Given the description of an element on the screen output the (x, y) to click on. 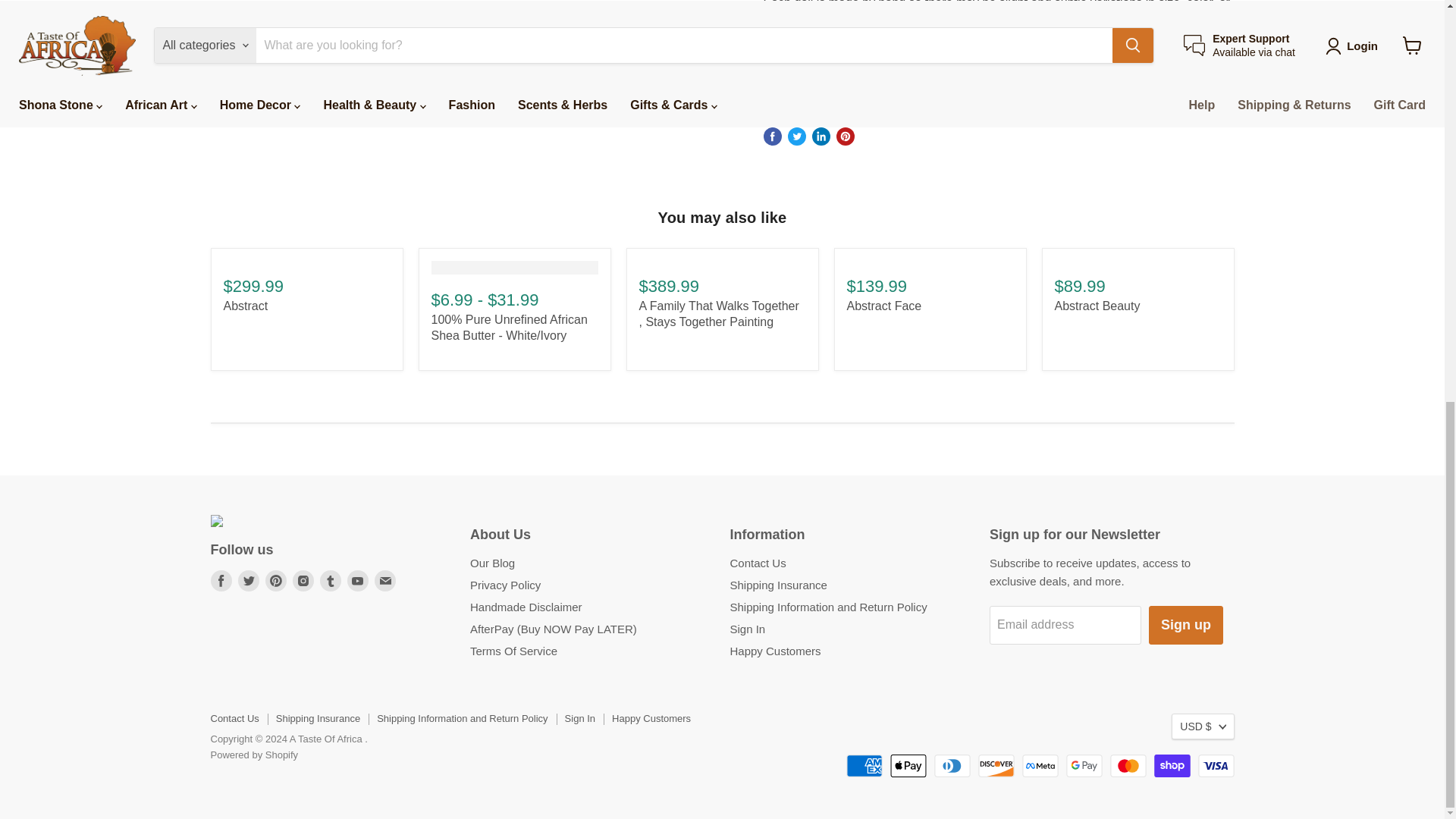
Instagram (303, 580)
Facebook (221, 580)
Pinterest (275, 580)
Email (385, 580)
Twitter (248, 580)
Youtube (357, 580)
Tumblr (330, 580)
